Given the description of an element on the screen output the (x, y) to click on. 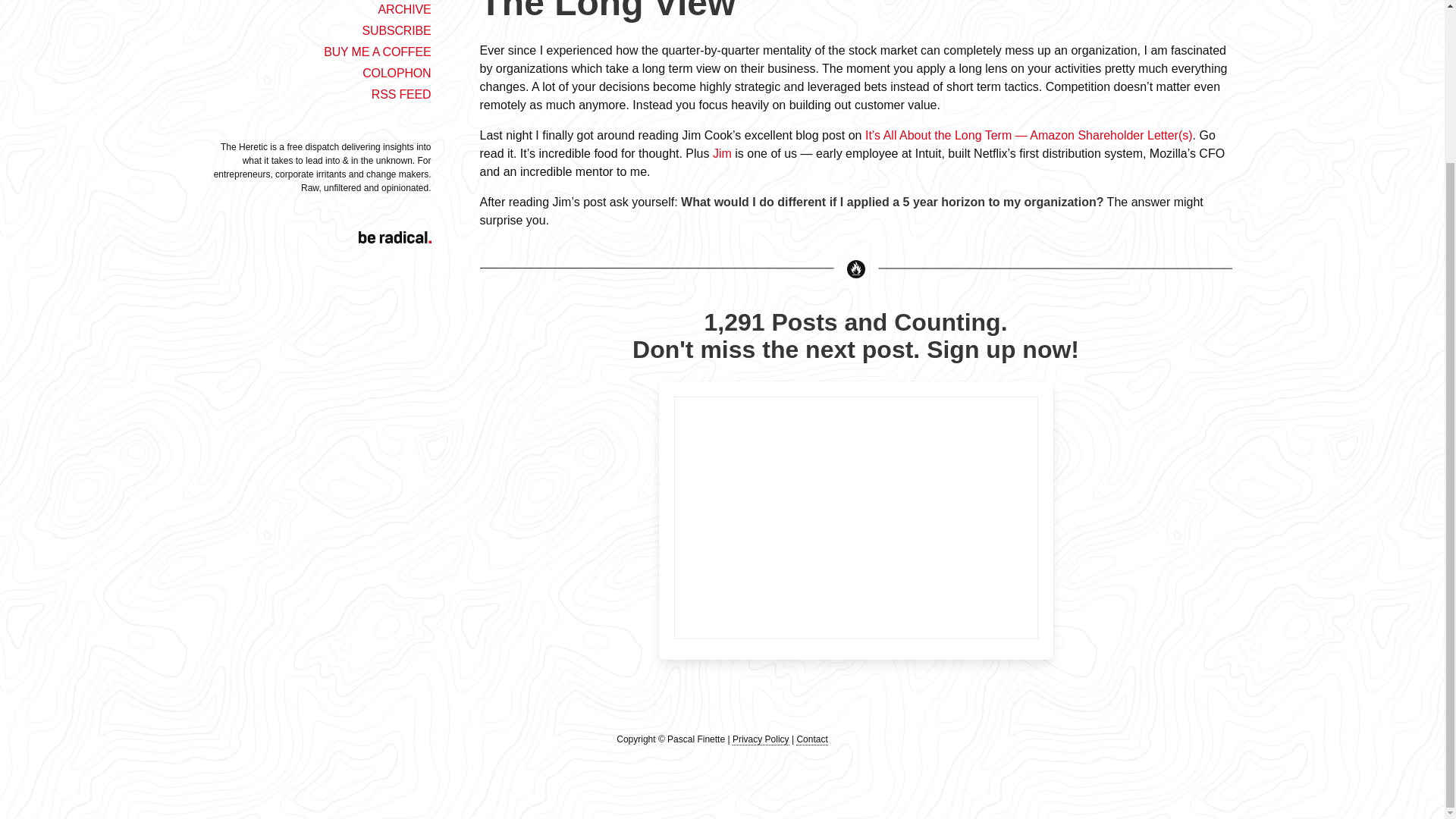
RSS FEED (400, 93)
Privacy Policy (760, 739)
SUBSCRIBE (395, 30)
BUY ME A COFFEE (376, 51)
Jim (722, 153)
Contact (811, 739)
COLOPHON (396, 72)
ARCHIVE (403, 9)
